Given the description of an element on the screen output the (x, y) to click on. 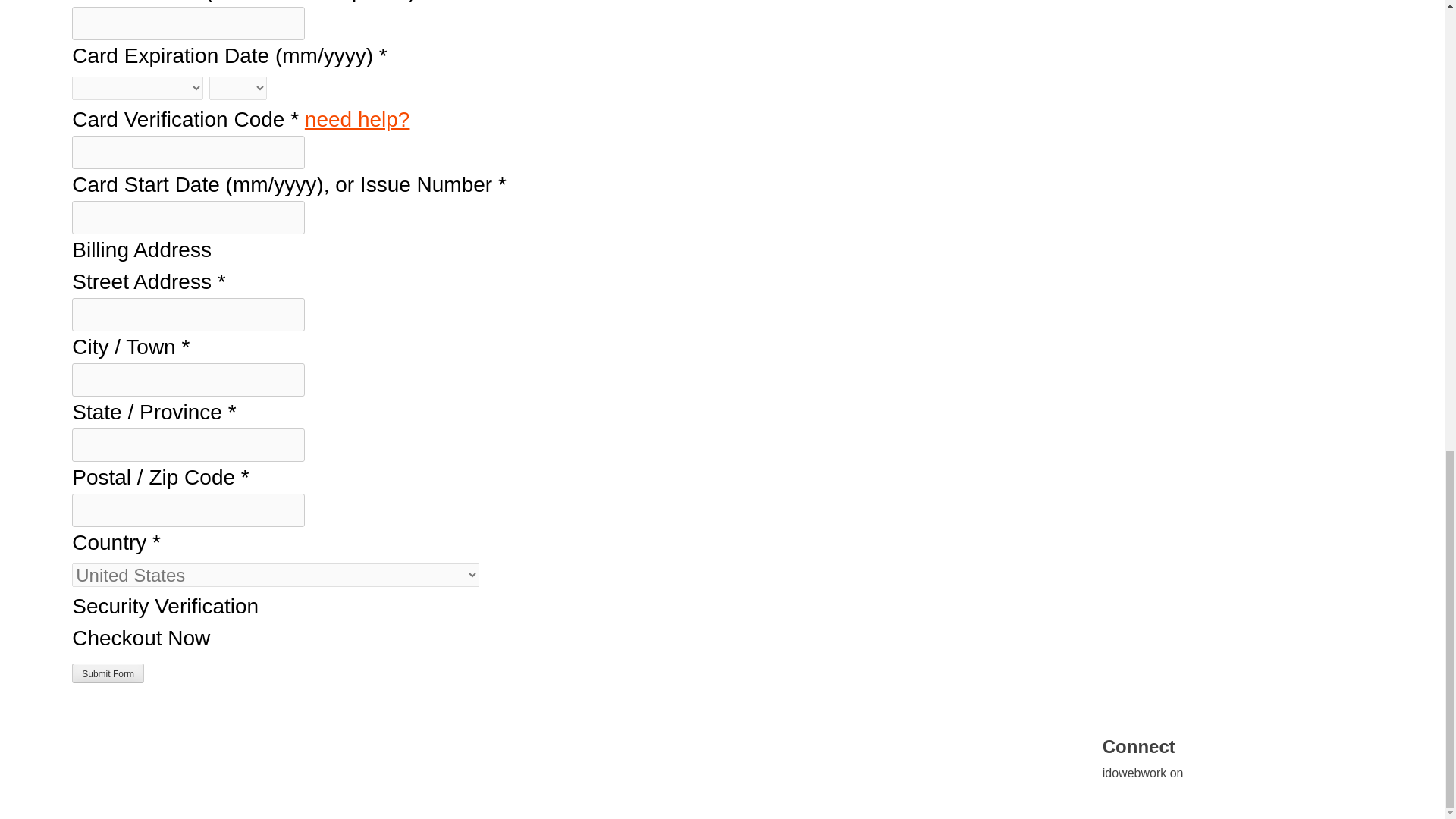
Submit Form (107, 673)
need help? (357, 119)
